Given the description of an element on the screen output the (x, y) to click on. 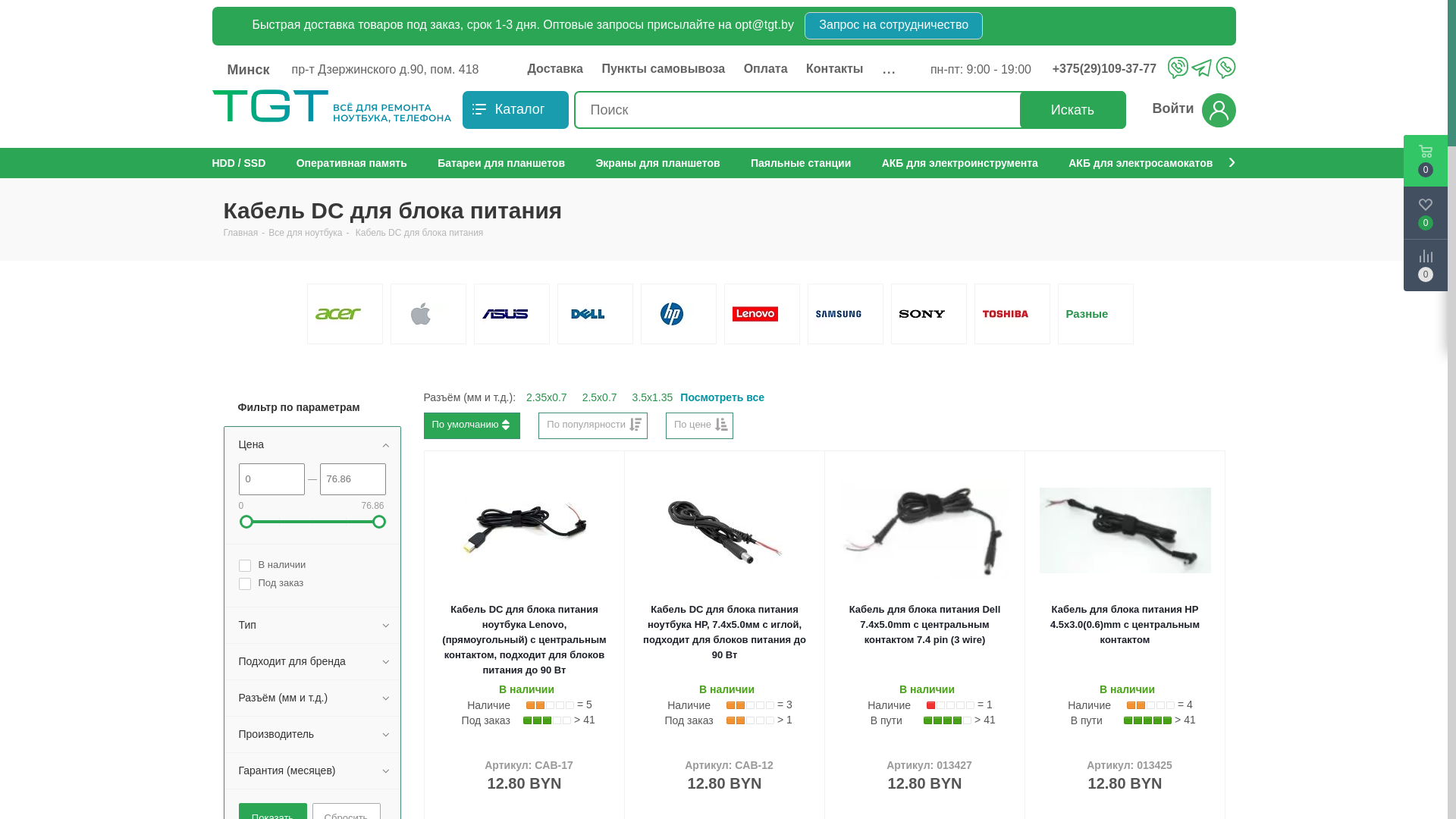
HP Element type: hover (671, 313)
opt@tgt.by Element type: text (763, 24)
Asus Element type: hover (504, 313)
Acer Element type: hover (337, 313)
3.5x1.35 Element type: text (652, 397)
Dell Element type: hover (588, 313)
viber Element type: hover (1177, 67)
Y Element type: text (4, 4)
Apple Element type: hover (421, 313)
Samsung Element type: hover (838, 313)
telegram Element type: hover (1201, 68)
Lenovo Element type: hover (755, 313)
Toshiba Element type: hover (1005, 313)
Sony Element type: hover (921, 313)
+375(29)109-37-77 Element type: text (1108, 68)
2.5x0.7 Element type: text (599, 397)
2.35x0.7 Element type: text (546, 397)
whatsapp Element type: hover (1224, 67)
